Given the description of an element on the screen output the (x, y) to click on. 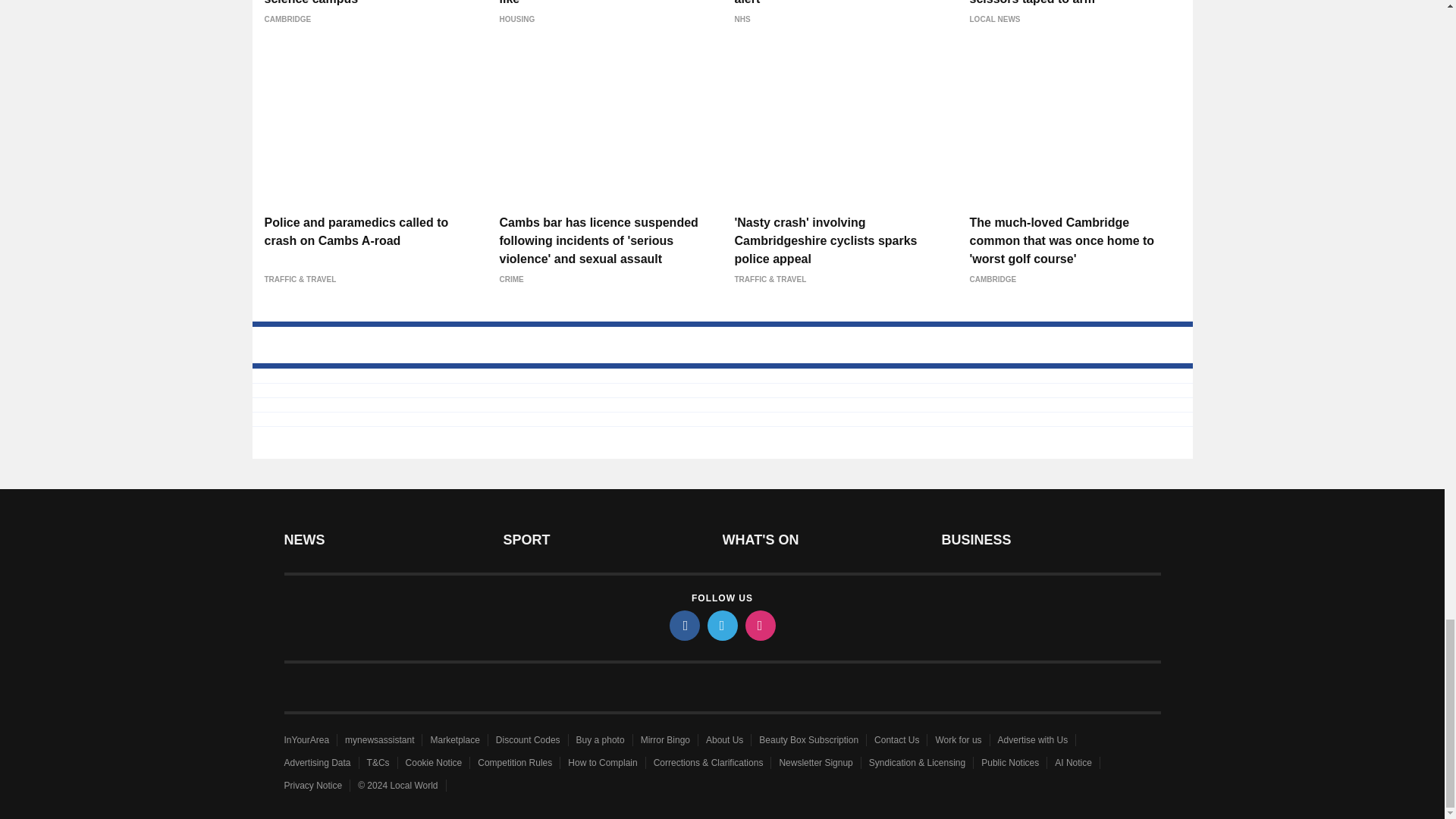
instagram (759, 625)
twitter (721, 625)
facebook (683, 625)
